Given the description of an element on the screen output the (x, y) to click on. 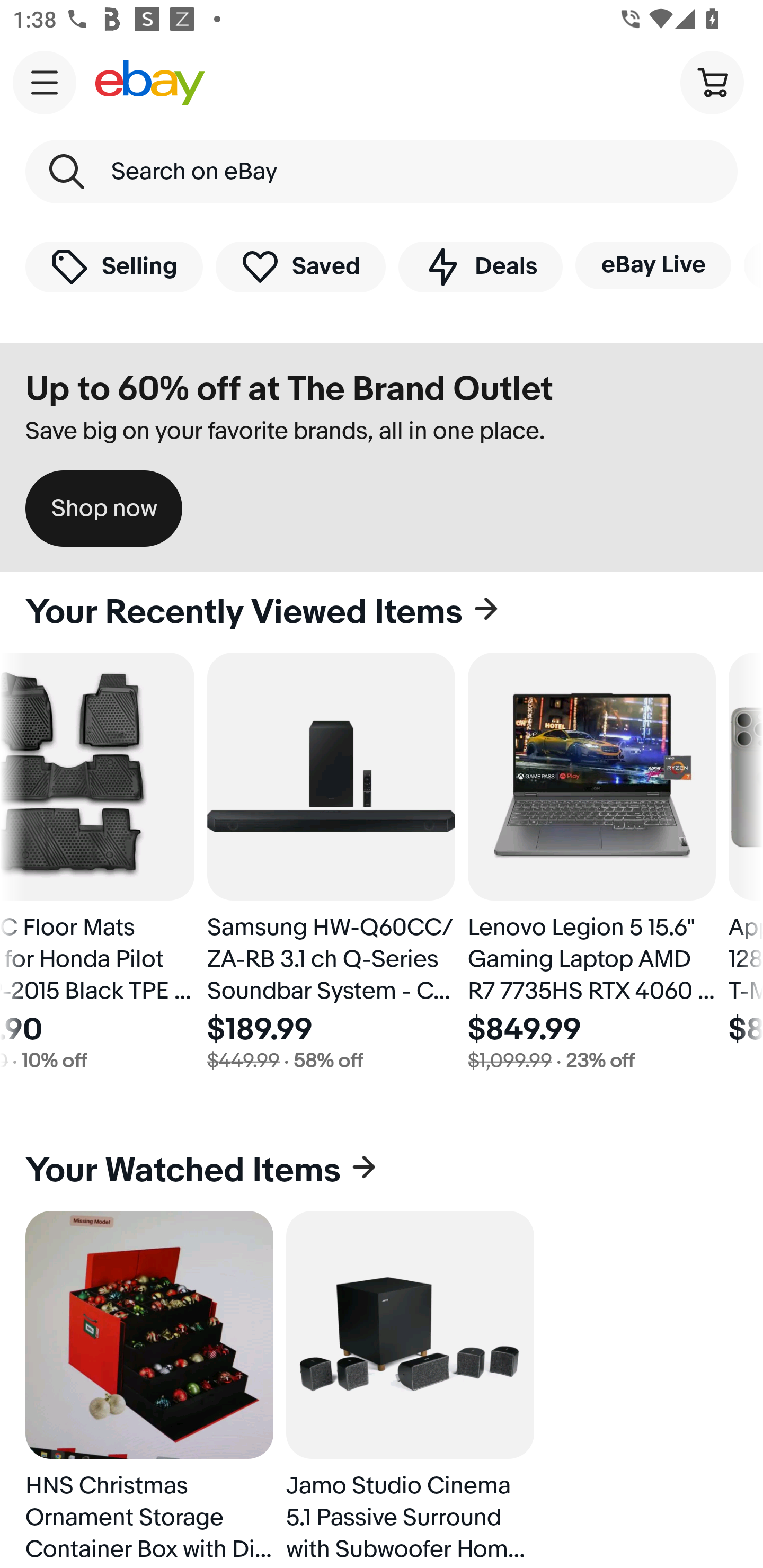
Main navigation, open (44, 82)
Cart button shopping cart (711, 81)
Search on eBay Search Keyword Search on eBay (381, 171)
Selling (113, 266)
Saved (300, 266)
Deals (480, 266)
eBay Live (652, 264)
Up to 60% off at The Brand Outlet (289, 389)
Shop now (103, 508)
Your Recently Viewed Items   (381, 612)
Your Watched Items   (381, 1170)
